Given the description of an element on the screen output the (x, y) to click on. 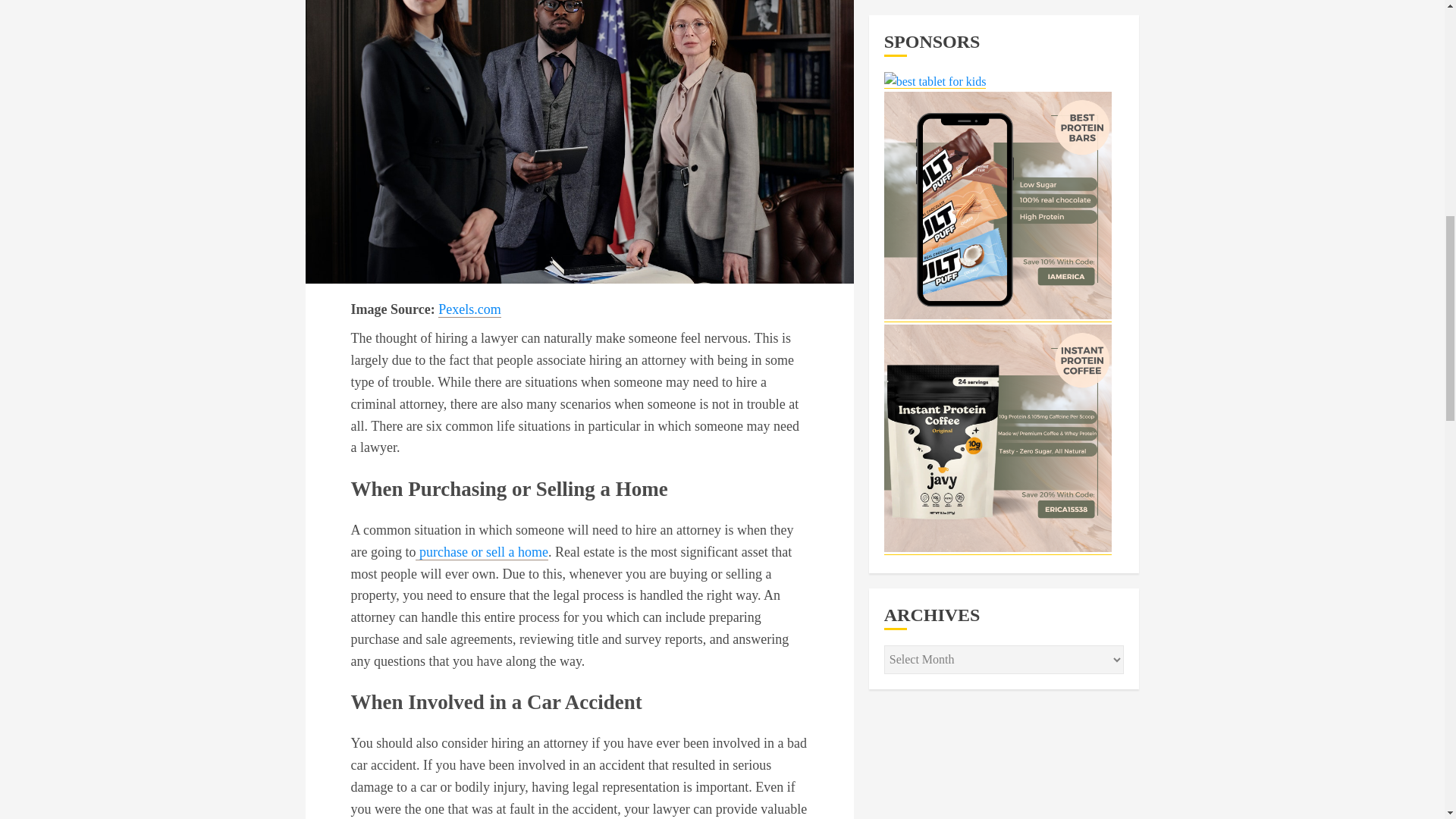
Instant Protein Coffee (997, 167)
The Best Protein Bar I Ever Had (997, 24)
